Given the description of an element on the screen output the (x, y) to click on. 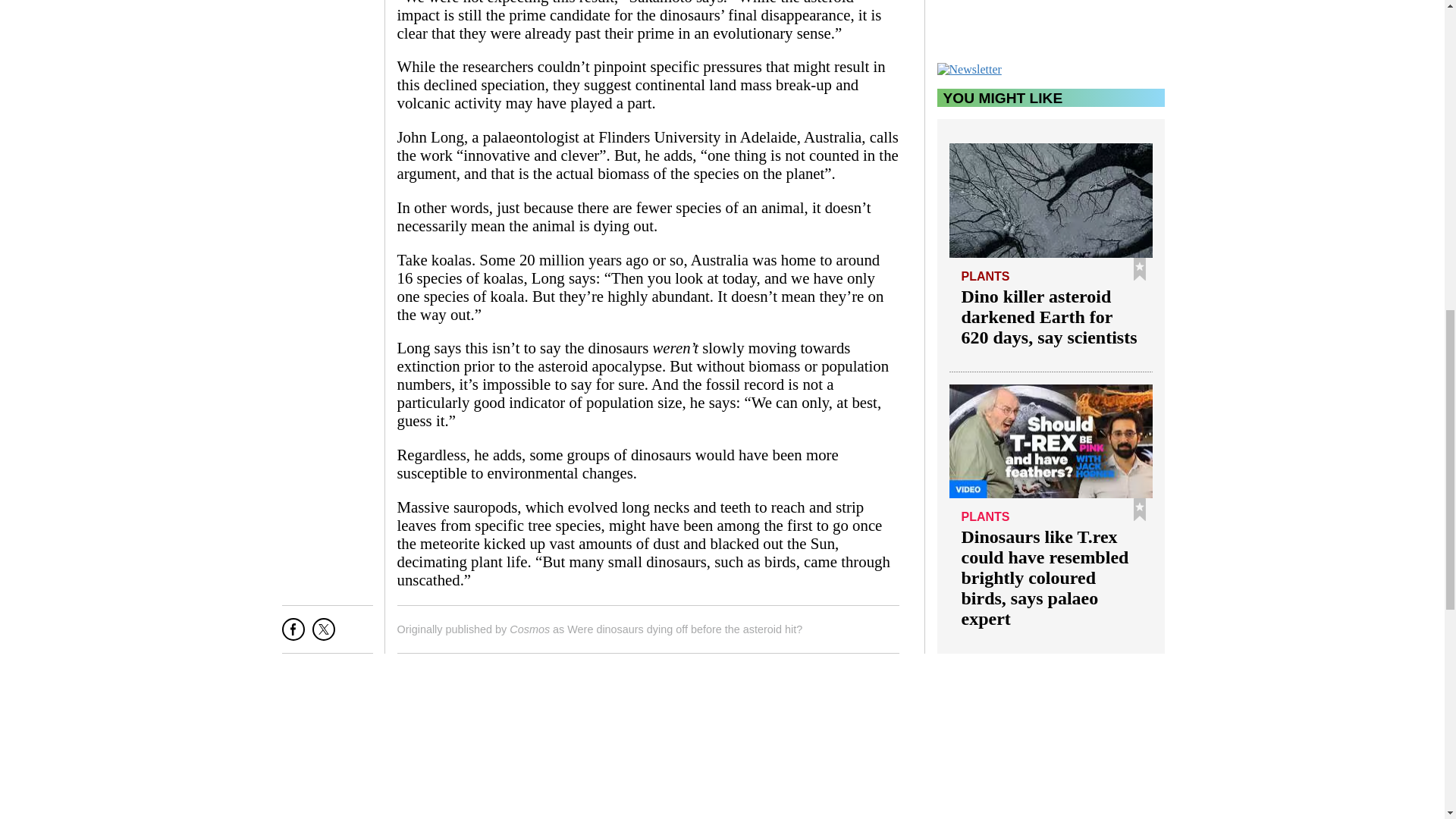
Tweet (323, 634)
Cosmos (529, 629)
Share on Facebook (293, 634)
Were dinosaurs dying off before the asteroid hit? (684, 629)
Were dinosaurs dying off before the asteroid hit? (684, 629)
